Given the description of an element on the screen output the (x, y) to click on. 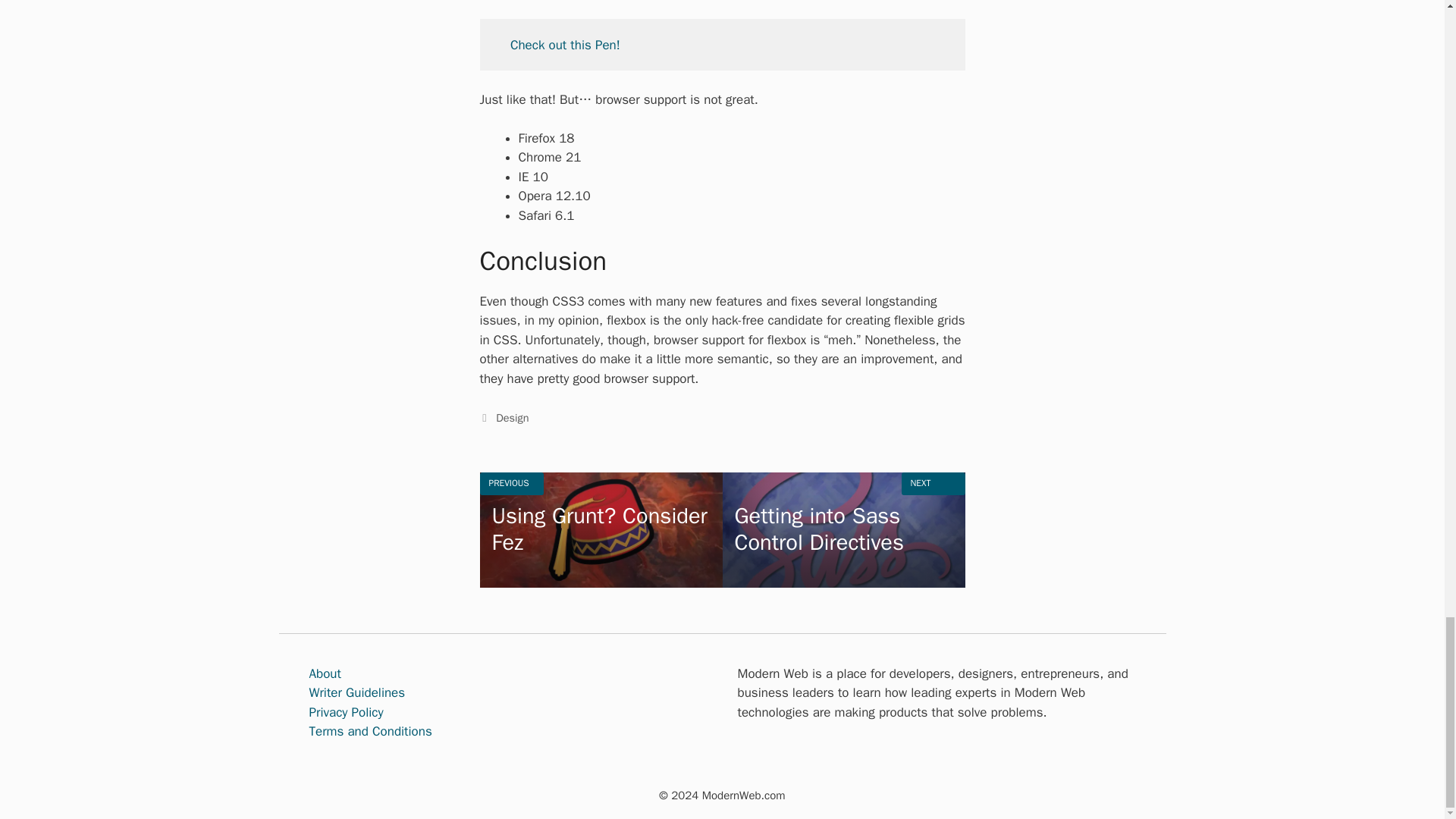
About (600, 530)
Writer Guidelines (324, 673)
Design (357, 692)
Privacy Policy (842, 530)
Check out this Pen! (512, 418)
Terms and Conditions (346, 712)
